Given the description of an element on the screen output the (x, y) to click on. 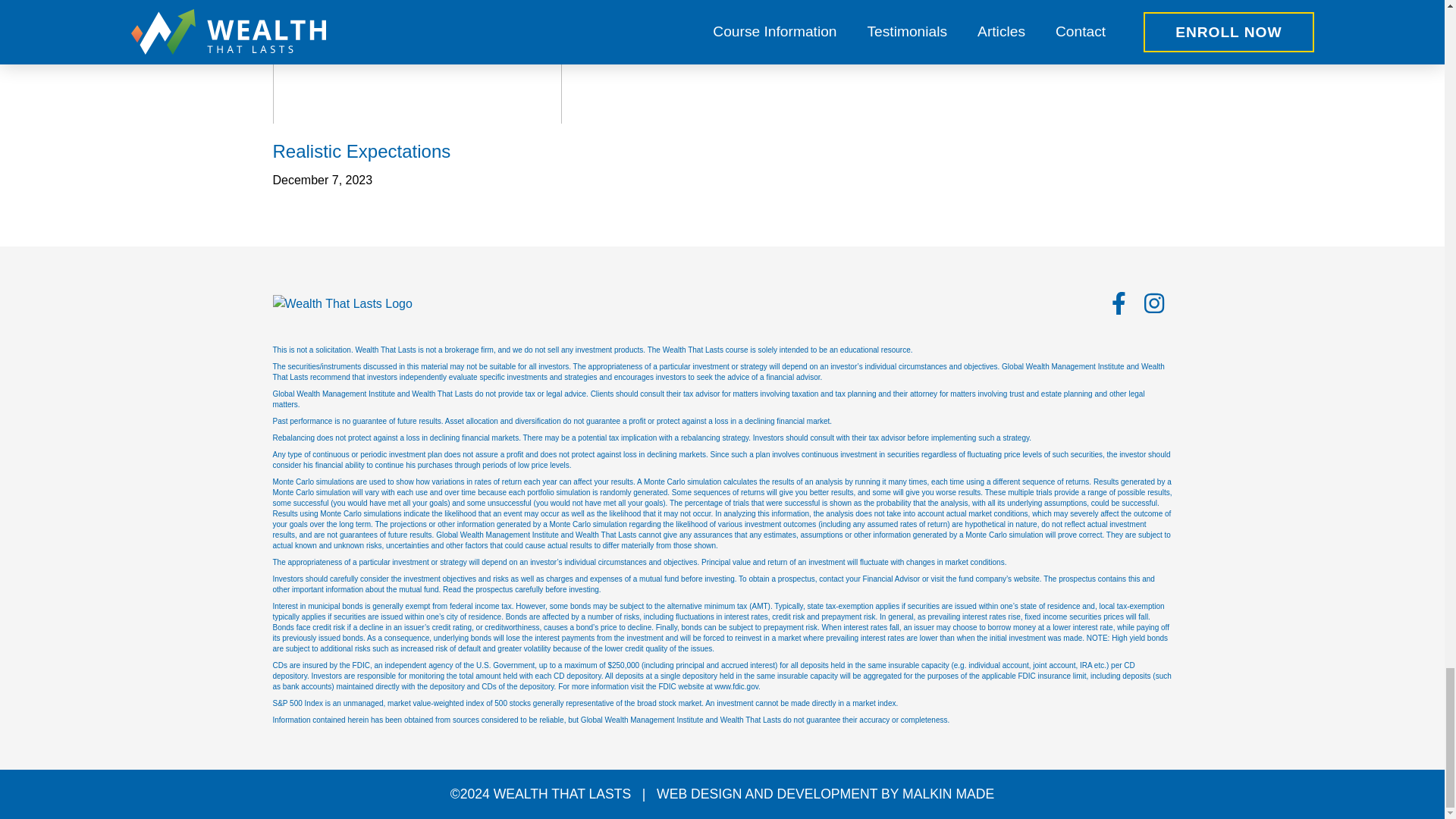
MALKIN MADE (948, 793)
Instagram (1154, 303)
Realistic Expectations (417, 151)
